Given the description of an element on the screen output the (x, y) to click on. 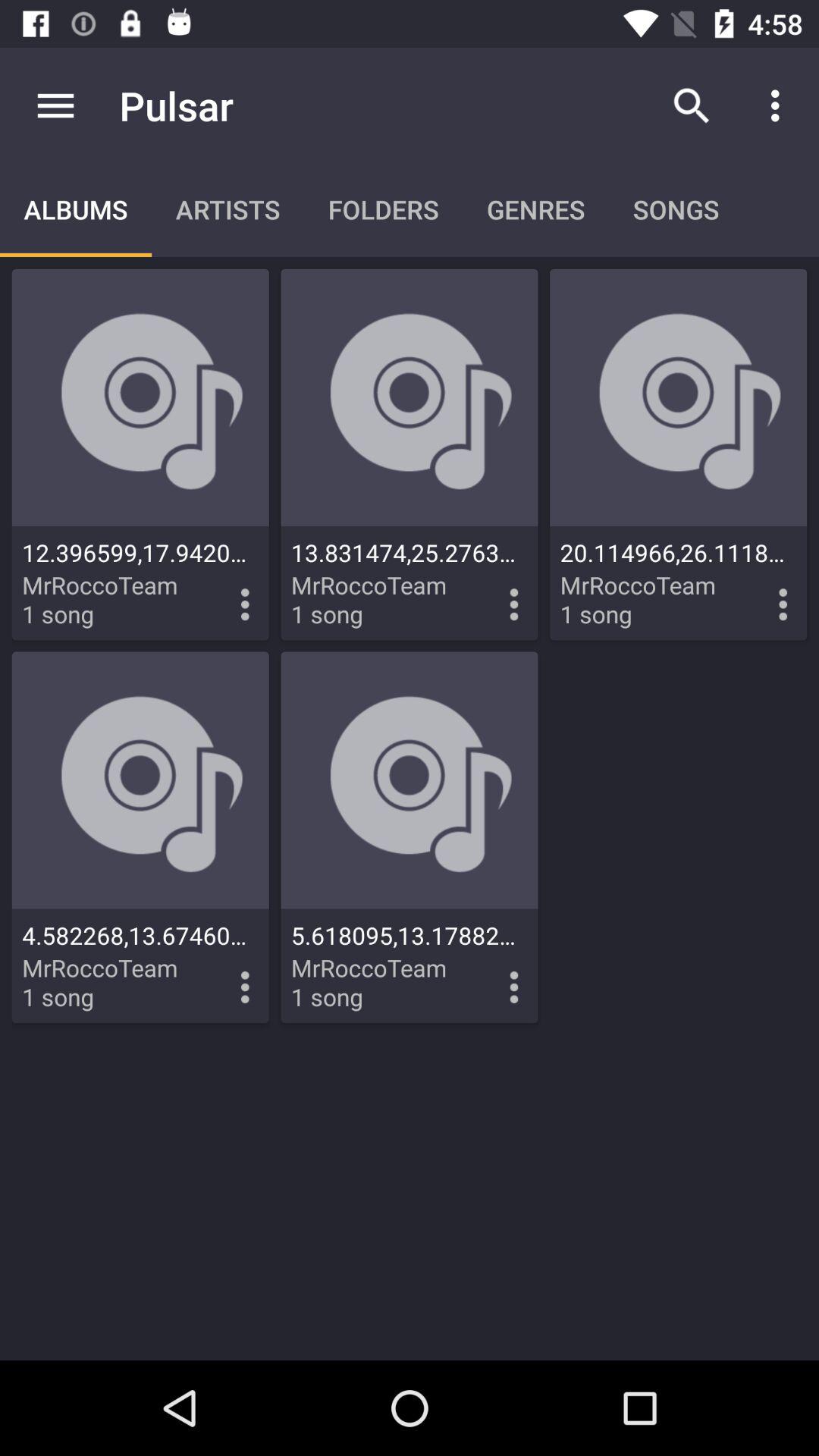
navigate to first album (140, 454)
click on the second row of second music icon (409, 837)
